Given the description of an element on the screen output the (x, y) to click on. 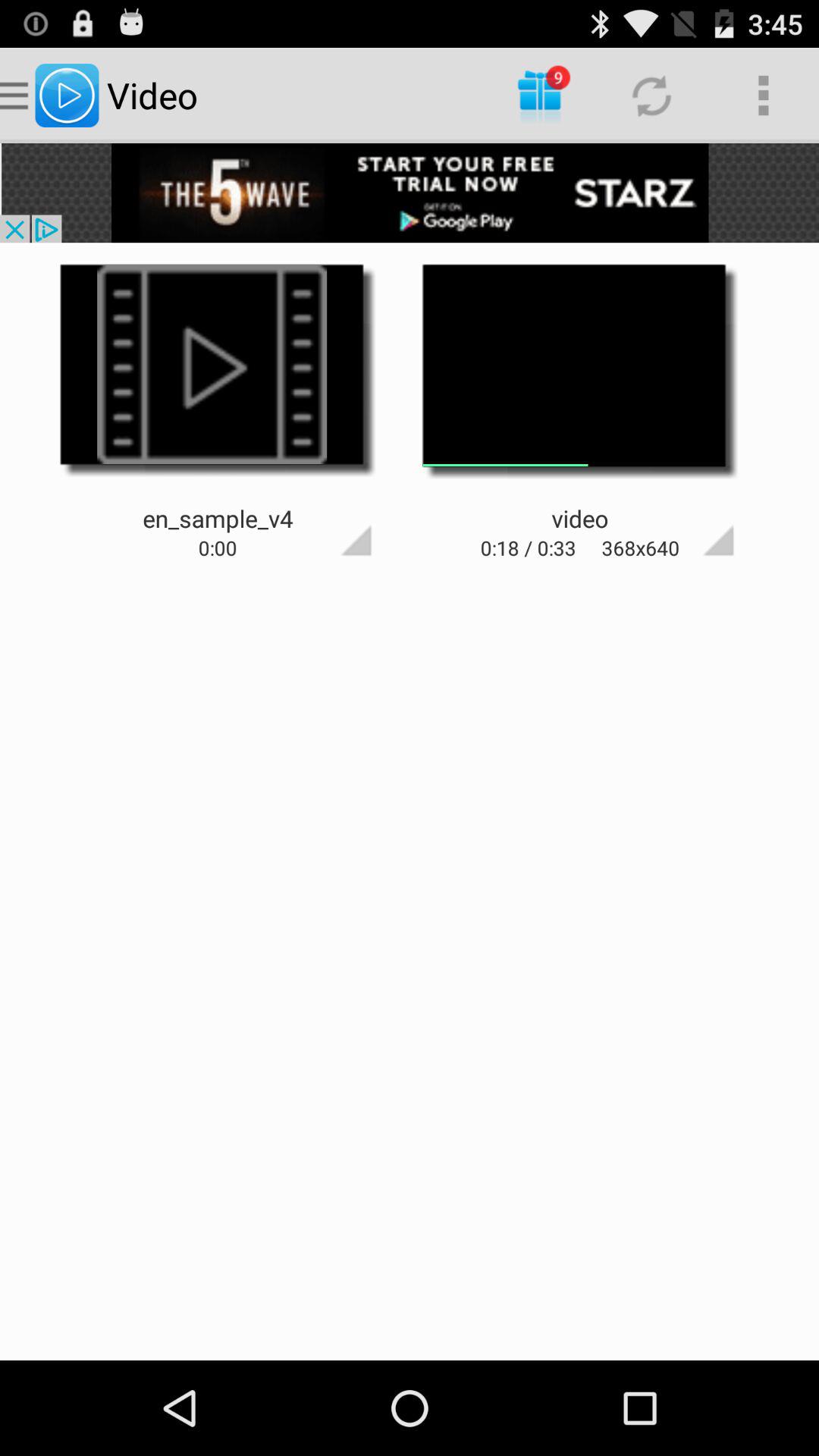
expand video button (691, 513)
